Given the description of an element on the screen output the (x, y) to click on. 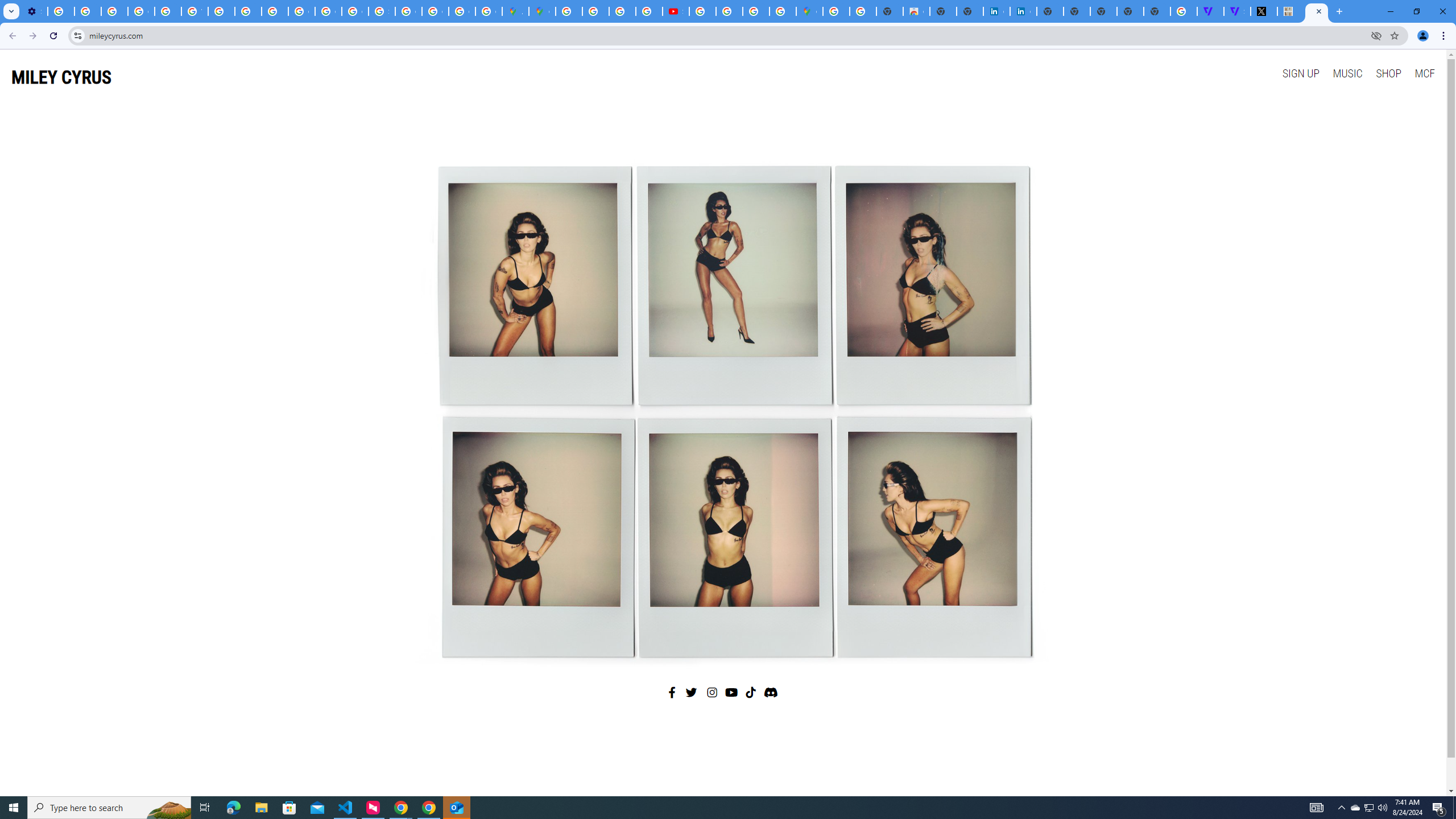
Streaming - The Verge (1236, 11)
Learn how to find your photos - Google Photos Help (87, 11)
Google Maps (809, 11)
Sign in - Google Accounts (382, 11)
Cookie Policy | LinkedIn (1023, 11)
MUSIC (1347, 73)
